Given the description of an element on the screen output the (x, y) to click on. 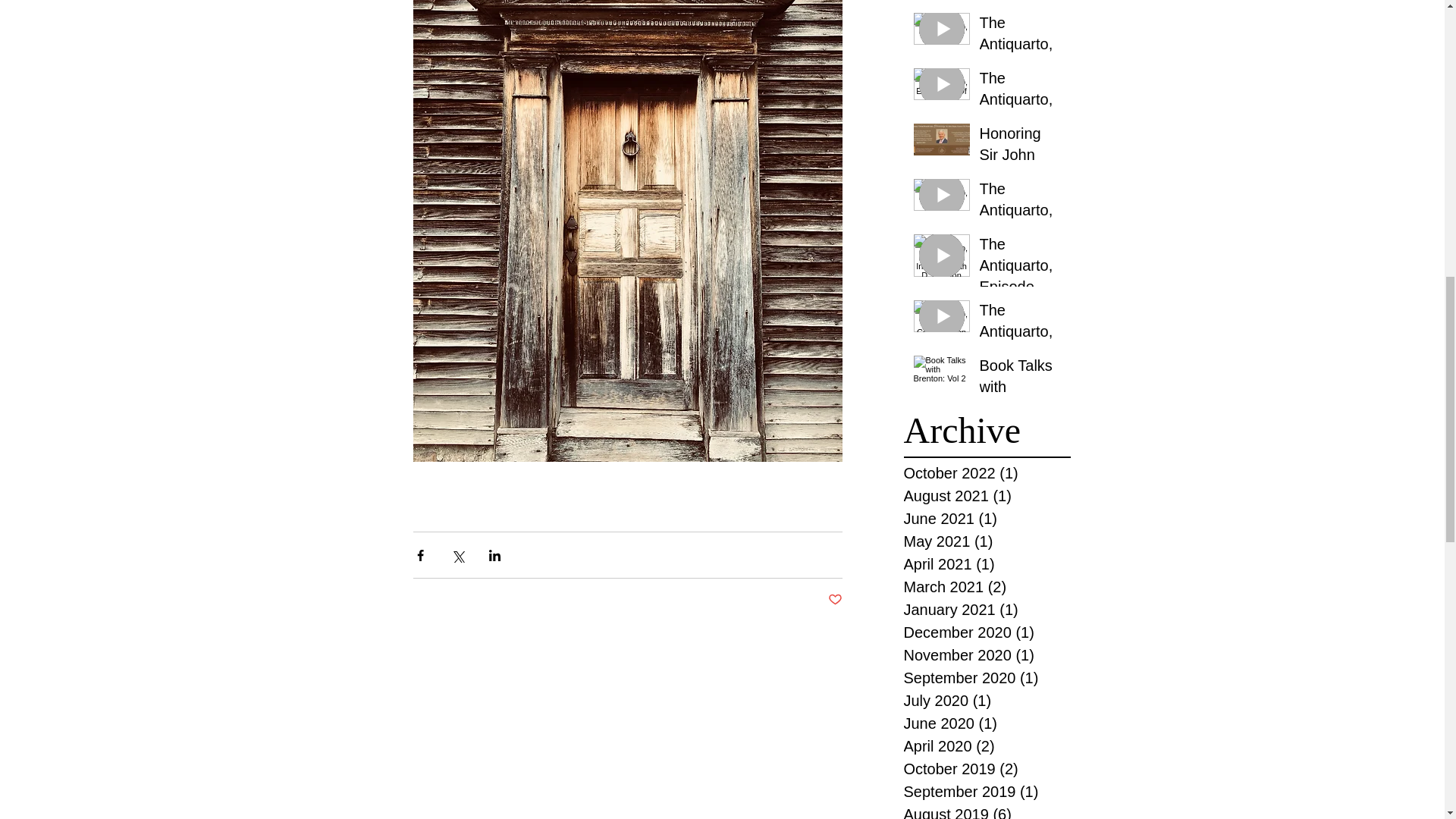
Honoring Sir John Major (1020, 157)
The Antiquarto, Episode 1: Conversation with Curt DiCamillo (1020, 333)
Book Talks with Brenton: Vol 2 (1020, 389)
The Antiquarto, Episode 3: Emma Manners, Duchess of Rutland (1020, 212)
